Given the description of an element on the screen output the (x, y) to click on. 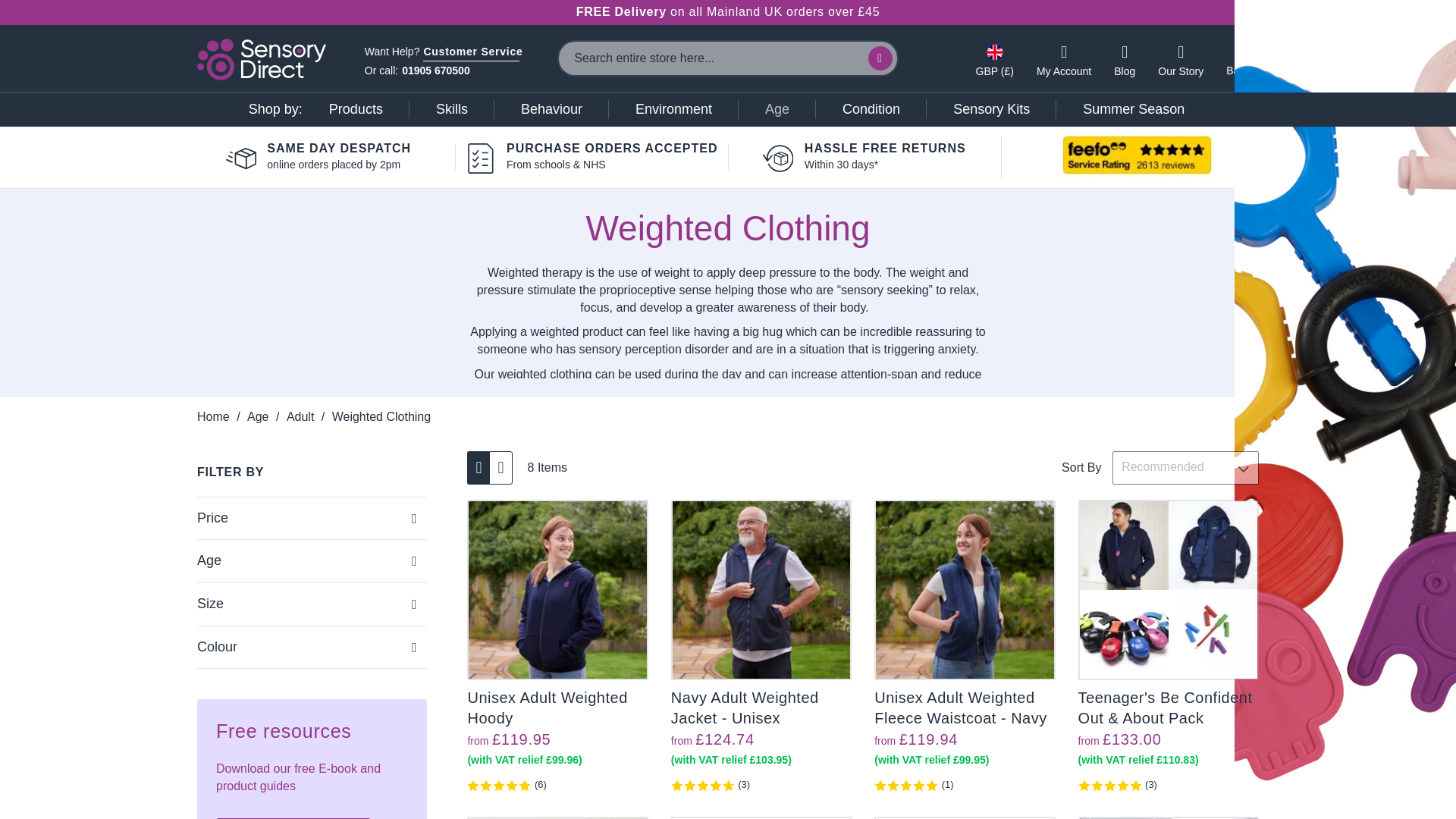
Search (879, 57)
Call 01905 670500 (435, 70)
01905 670500 (435, 70)
My Account (1063, 59)
Our Story (1180, 59)
Customer Service (472, 53)
Find the information you need on our customer service (472, 53)
SEARCH (879, 57)
Products (355, 109)
